Given the description of an element on the screen output the (x, y) to click on. 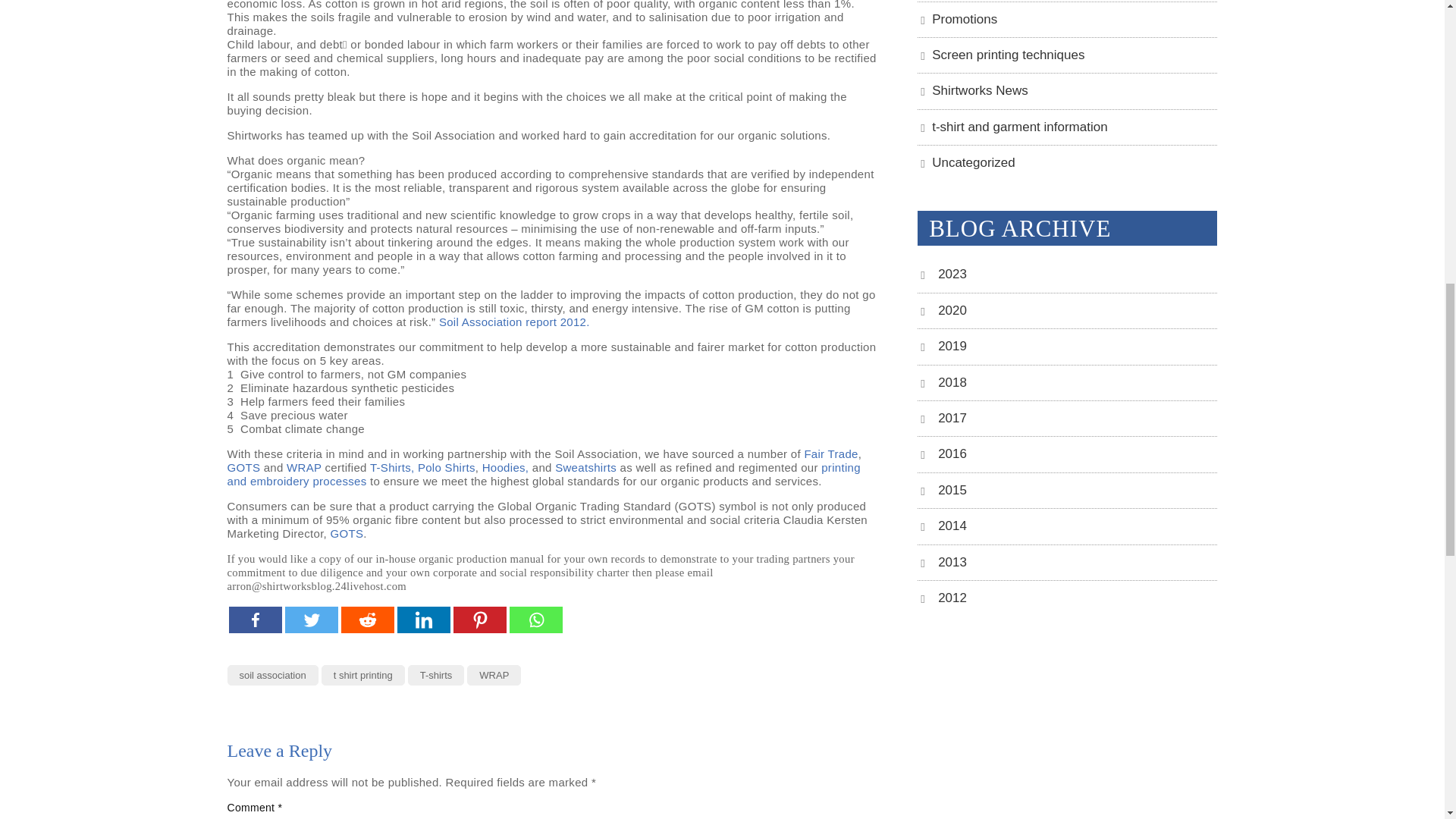
Organic T-Shirts (617, 467)
Organic Hoodies (505, 467)
Fair Trade (830, 453)
WRAP compliance (303, 467)
Facebook (255, 619)
GOTS Standard (347, 533)
Organic Sweatshirts (584, 467)
Soil association report 2012 (514, 321)
Organic Polo Shirts (446, 467)
Greener T-Shirt Printing (543, 474)
Twitter (311, 619)
GOTS website (243, 467)
Organic T-Shirts (393, 467)
